Given the description of an element on the screen output the (x, y) to click on. 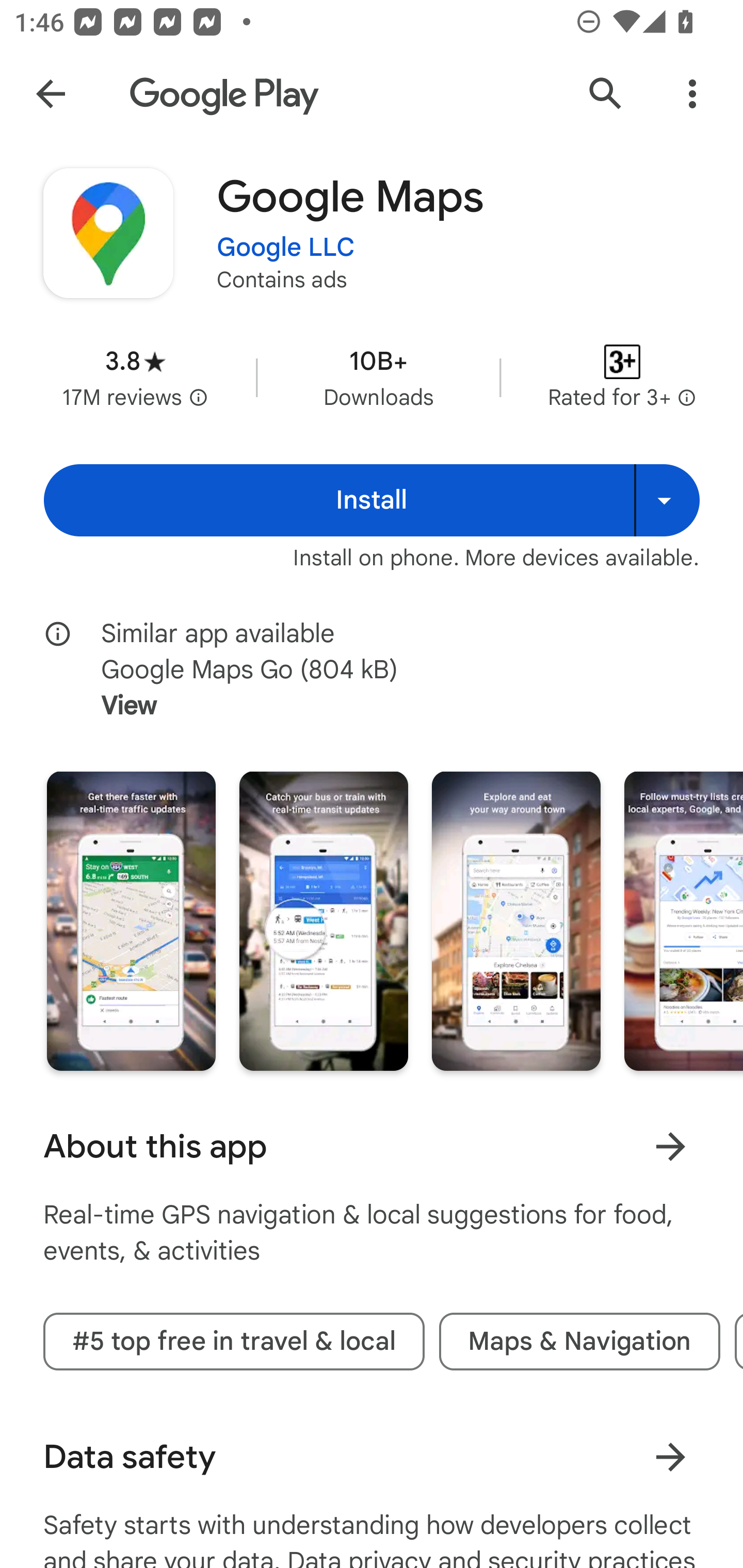
Navigate up (50, 93)
Search Google Play (605, 93)
More Options (692, 93)
Google LLC (285, 247)
Average rating 3.8 stars in 17 million reviews (135, 377)
Content rating Rated for 3+ (622, 377)
Install Install Install on more devices (371, 500)
Install on more devices (667, 500)
Similar app available
Google Maps Go (804 kB)
View (385, 670)
Screenshot "1" of "8" (130, 920)
Screenshot "2" of "8" (323, 920)
Screenshot "3" of "8" (515, 920)
Screenshot "4" of "8" (683, 920)
About this app Learn more About this app (371, 1146)
Learn more About this app (670, 1146)
#5 top free in travel & local tag (233, 1341)
Maps & Navigation tag (579, 1341)
Data safety Learn more about data safety (371, 1457)
Learn more about data safety (670, 1457)
